Given the description of an element on the screen output the (x, y) to click on. 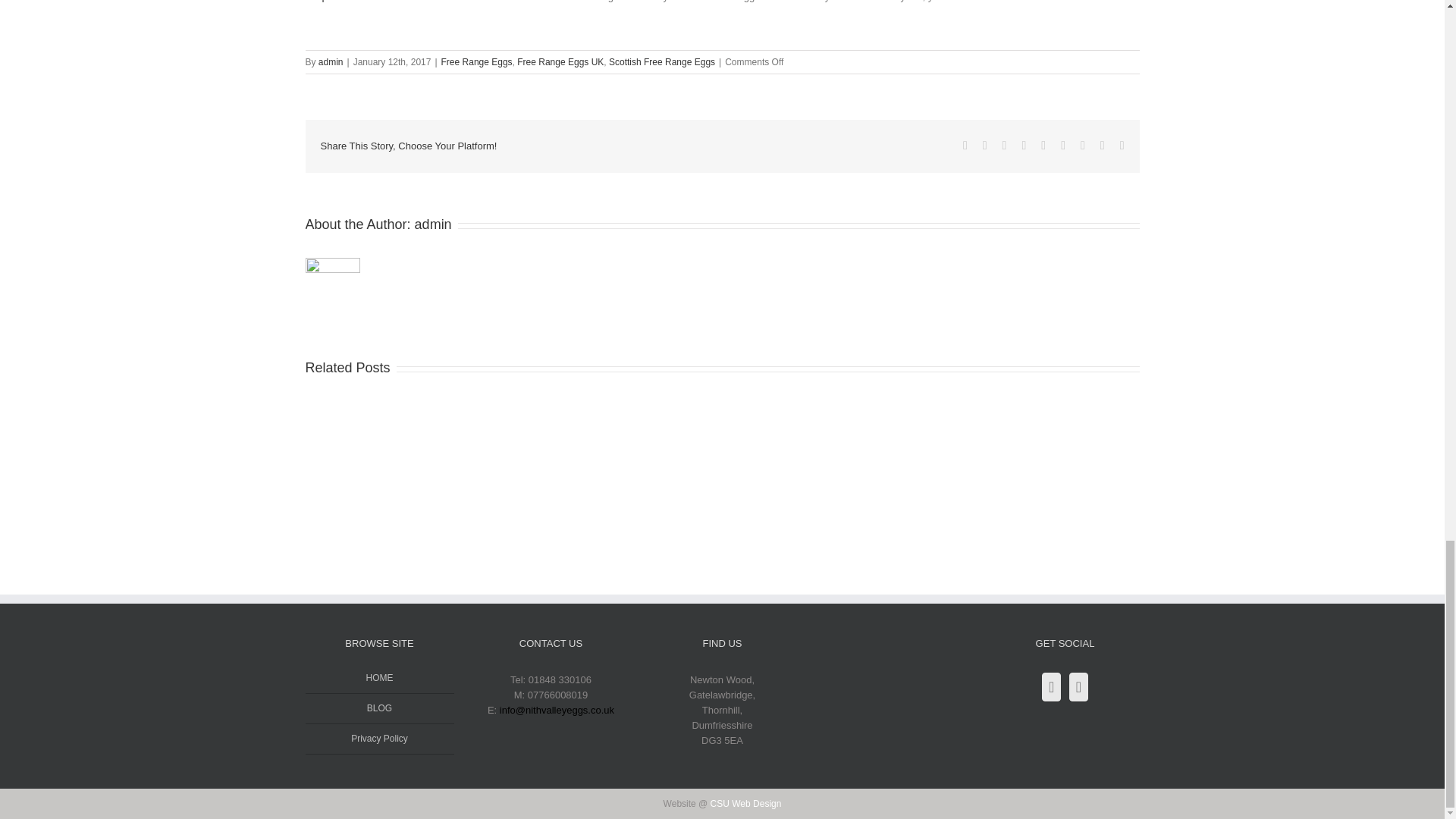
Posts by admin (432, 224)
admin (432, 224)
Scottish Free Range Eggs (661, 61)
Free Range Eggs UK (560, 61)
admin (330, 61)
Free Range Eggs (476, 61)
Posts by admin (330, 61)
